Given the description of an element on the screen output the (x, y) to click on. 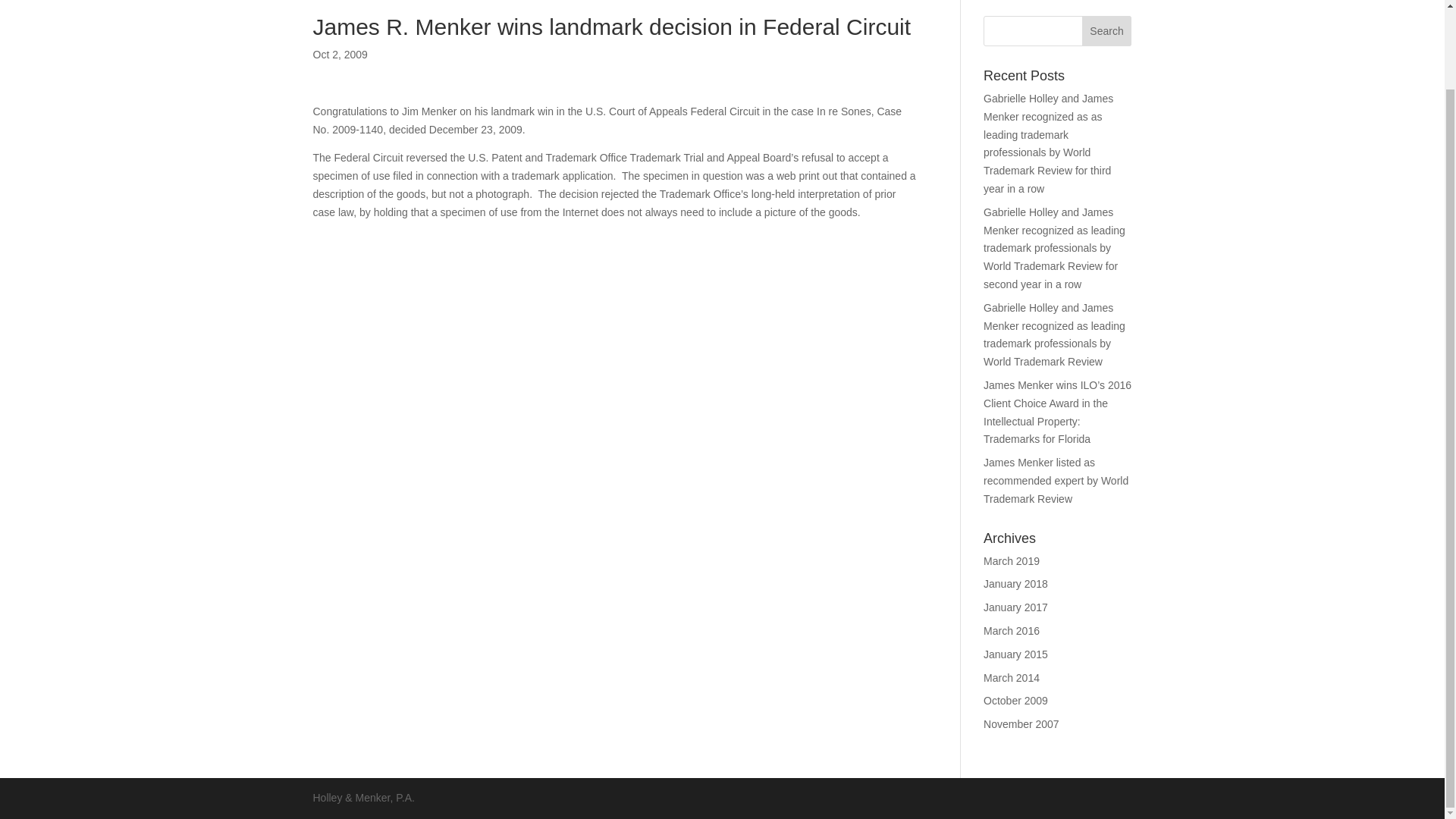
March 2016 (1011, 630)
January 2018 (1016, 583)
March 2019 (1011, 561)
Search (1106, 30)
Search (1106, 30)
November 2007 (1021, 724)
